Given the description of an element on the screen output the (x, y) to click on. 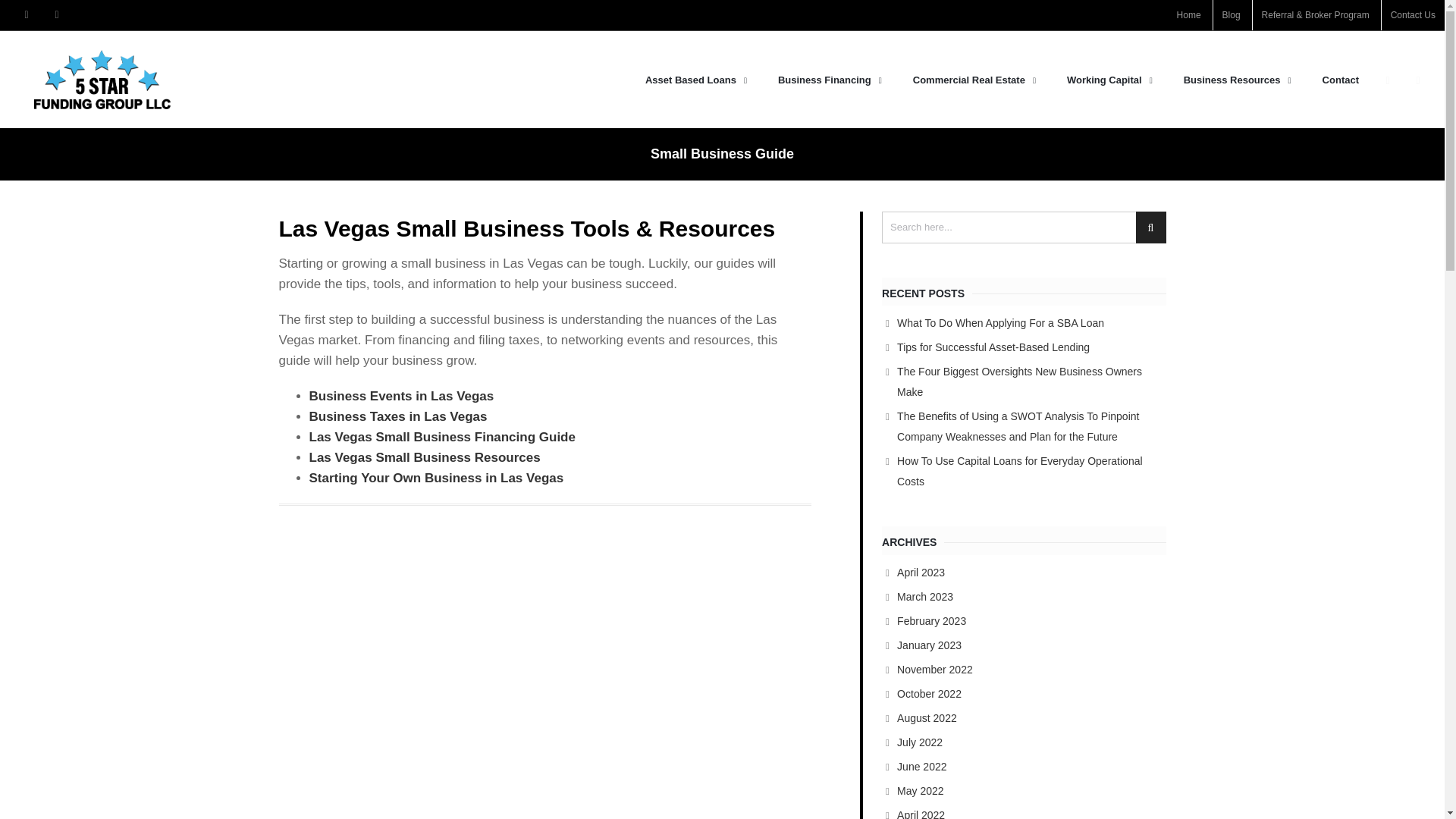
Working Capital (1111, 79)
5 Star Funding Group (332, 78)
Asset Based Loans (697, 79)
Blog (1231, 15)
5 Star Funding Group (101, 78)
Business Financing (831, 79)
Search here... (1024, 227)
Search here... (1024, 227)
Business Resources (1239, 79)
Contact Us (1406, 15)
